Given the description of an element on the screen output the (x, y) to click on. 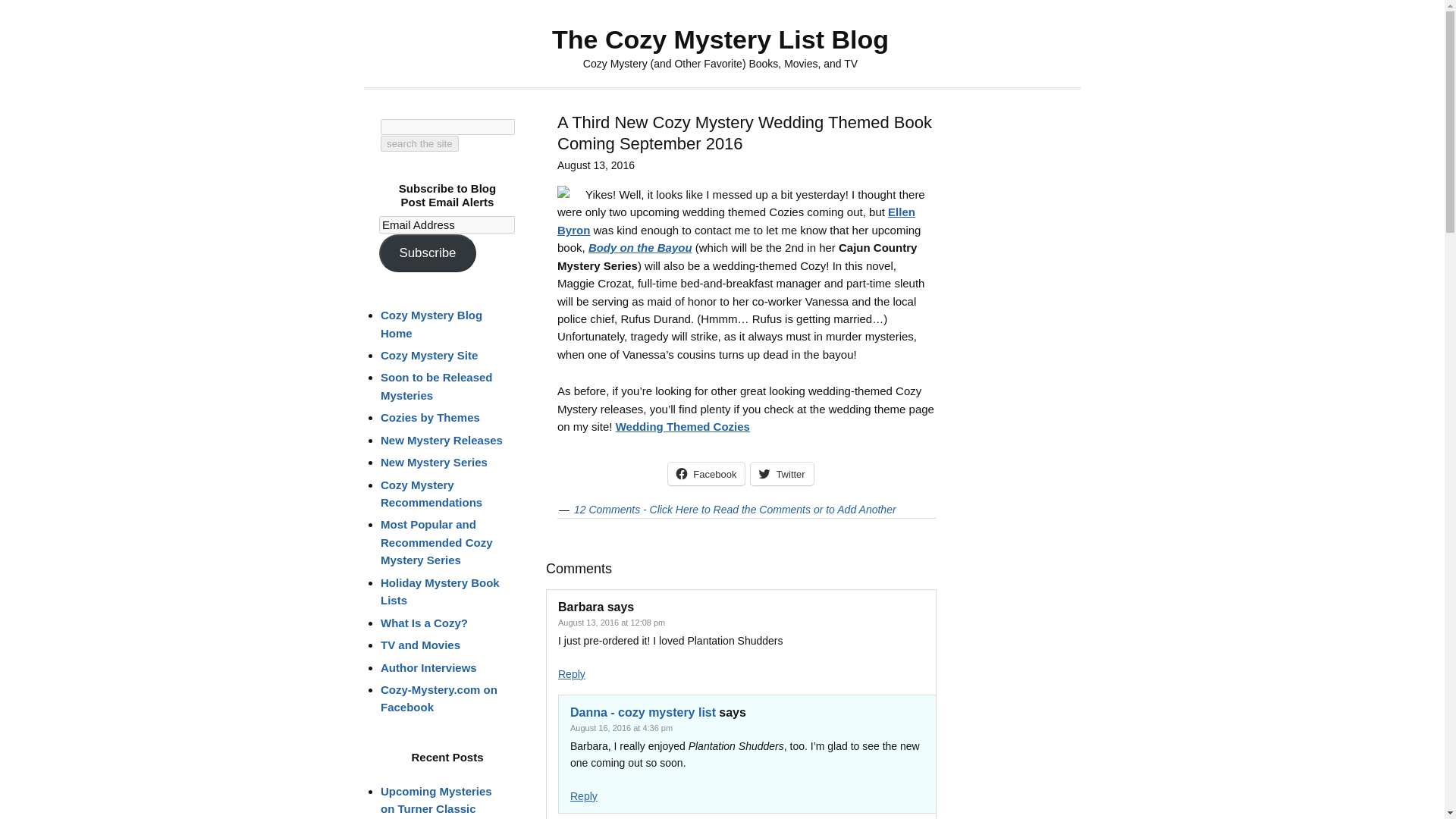
The Cozy Mystery List Blog (719, 39)
August 13, 2016 at 12:08 pm (611, 622)
Twitter (781, 473)
Click to share on Facebook (706, 473)
search the site (419, 143)
Body on the Bayou (640, 246)
Facebook (706, 473)
Ellen Byron (736, 220)
Reply (583, 796)
August 16, 2016 at 4:36 pm (621, 727)
Danna - cozy mystery list (643, 712)
Click to share on Twitter (781, 473)
Reply (571, 674)
Wedding Themed Cozies (682, 426)
